Given the description of an element on the screen output the (x, y) to click on. 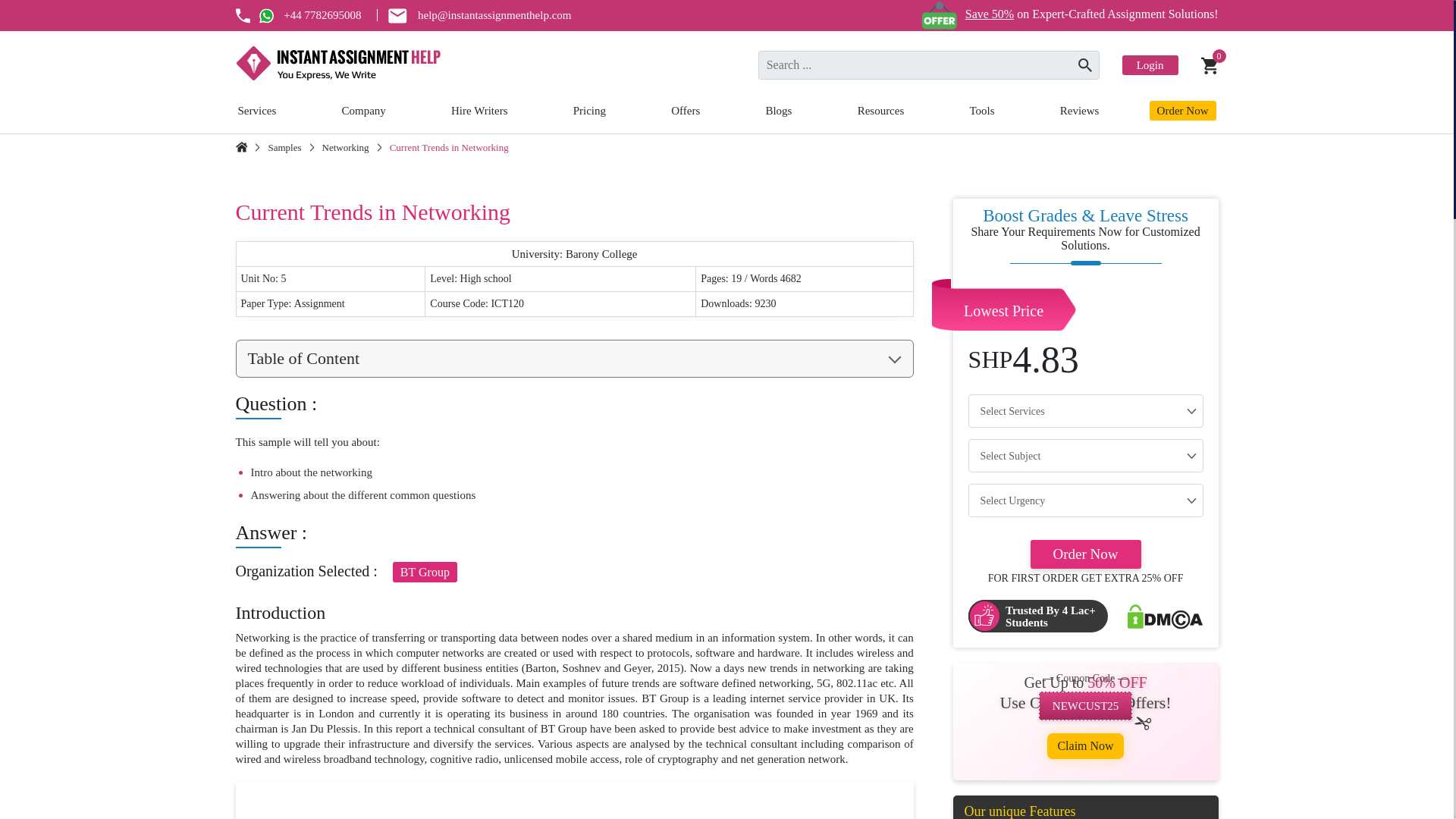
Login (1149, 65)
0 (1209, 64)
Home (240, 146)
